Given the description of an element on the screen output the (x, y) to click on. 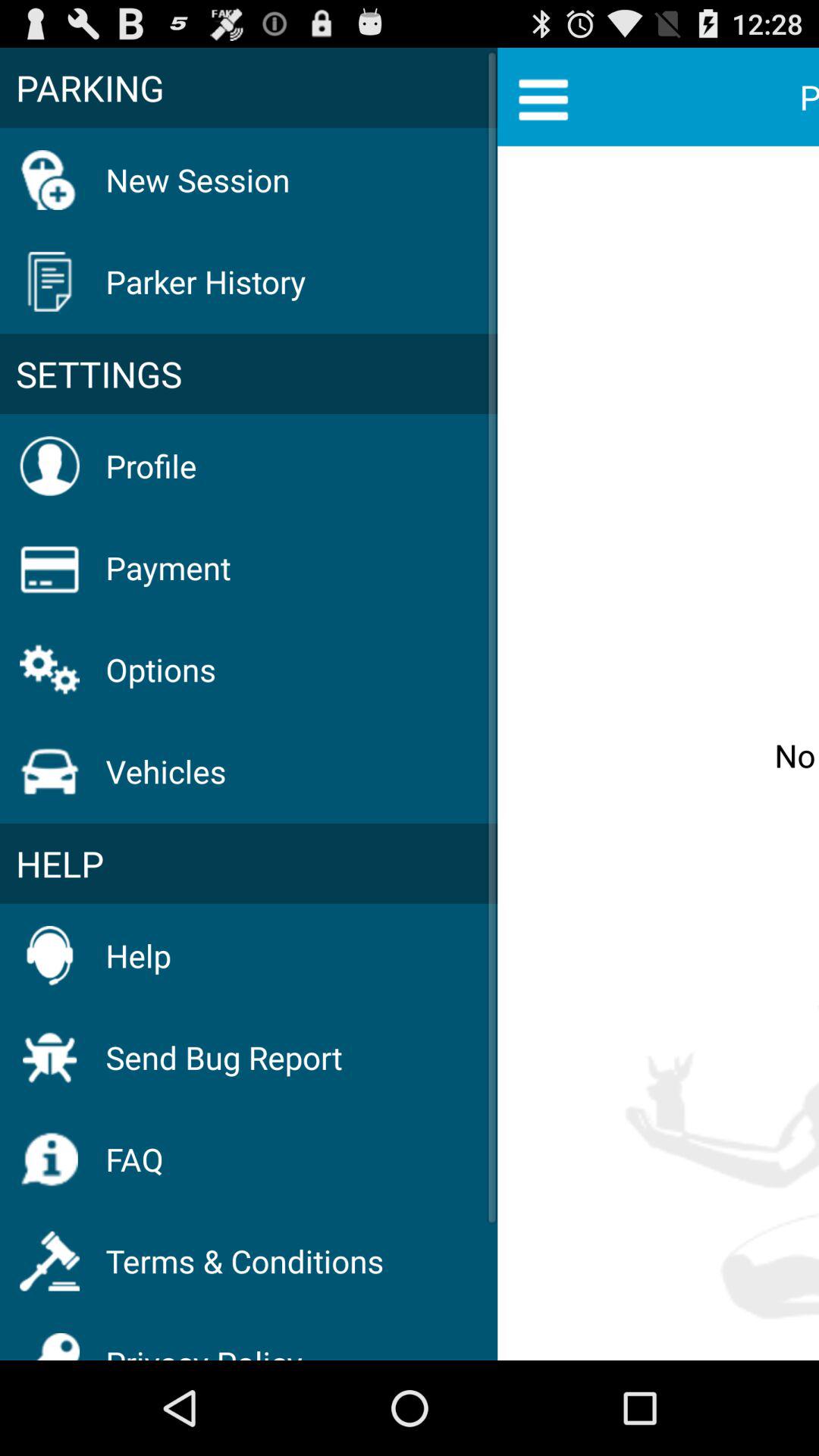
tap icon below the parking (197, 179)
